Given the description of an element on the screen output the (x, y) to click on. 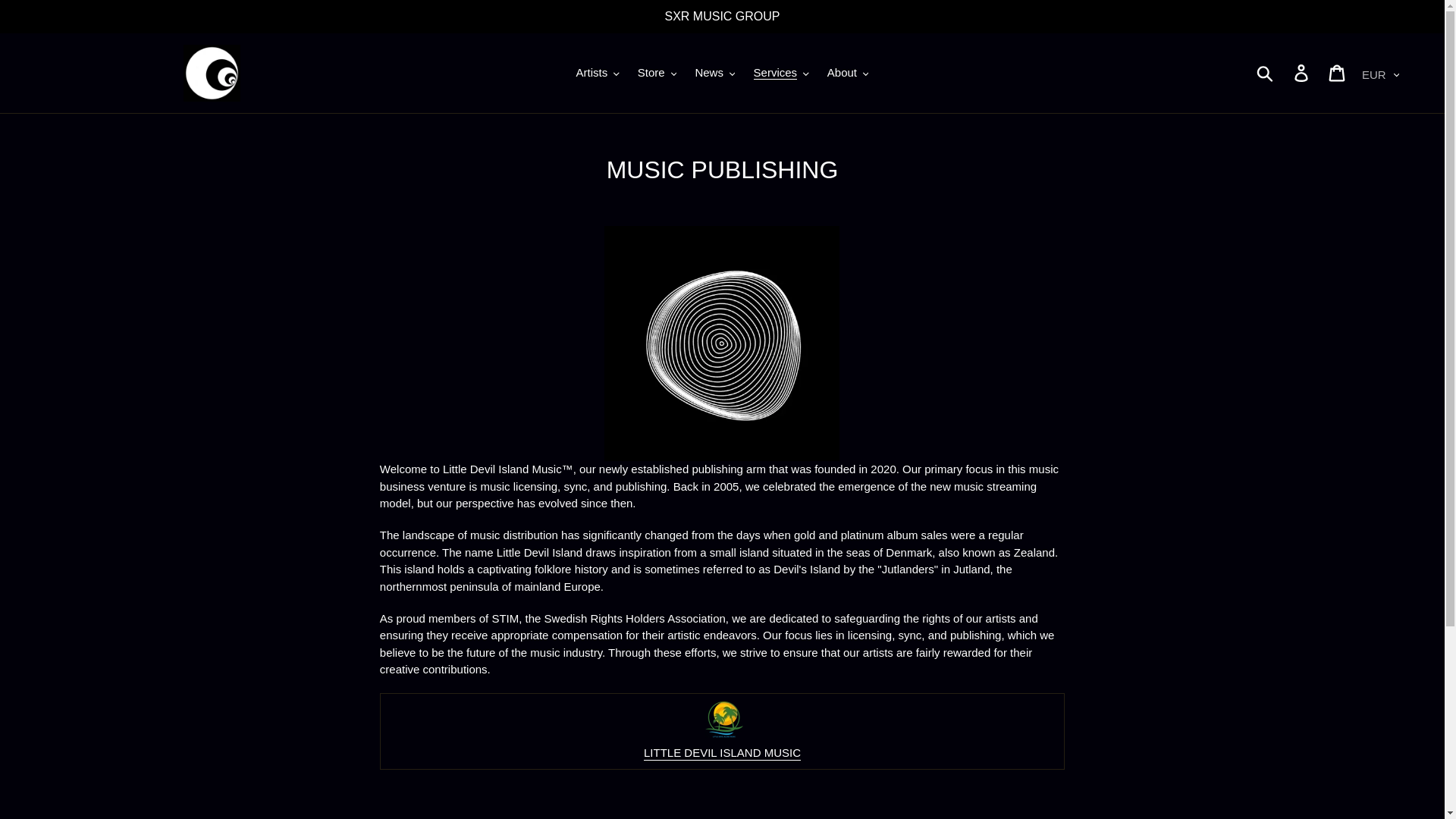
LITTLE DEVIL ISLAND MUSIC (721, 753)
  LITTLE DEVIL ISLAND MUSIC (722, 741)
